Given the description of an element on the screen output the (x, y) to click on. 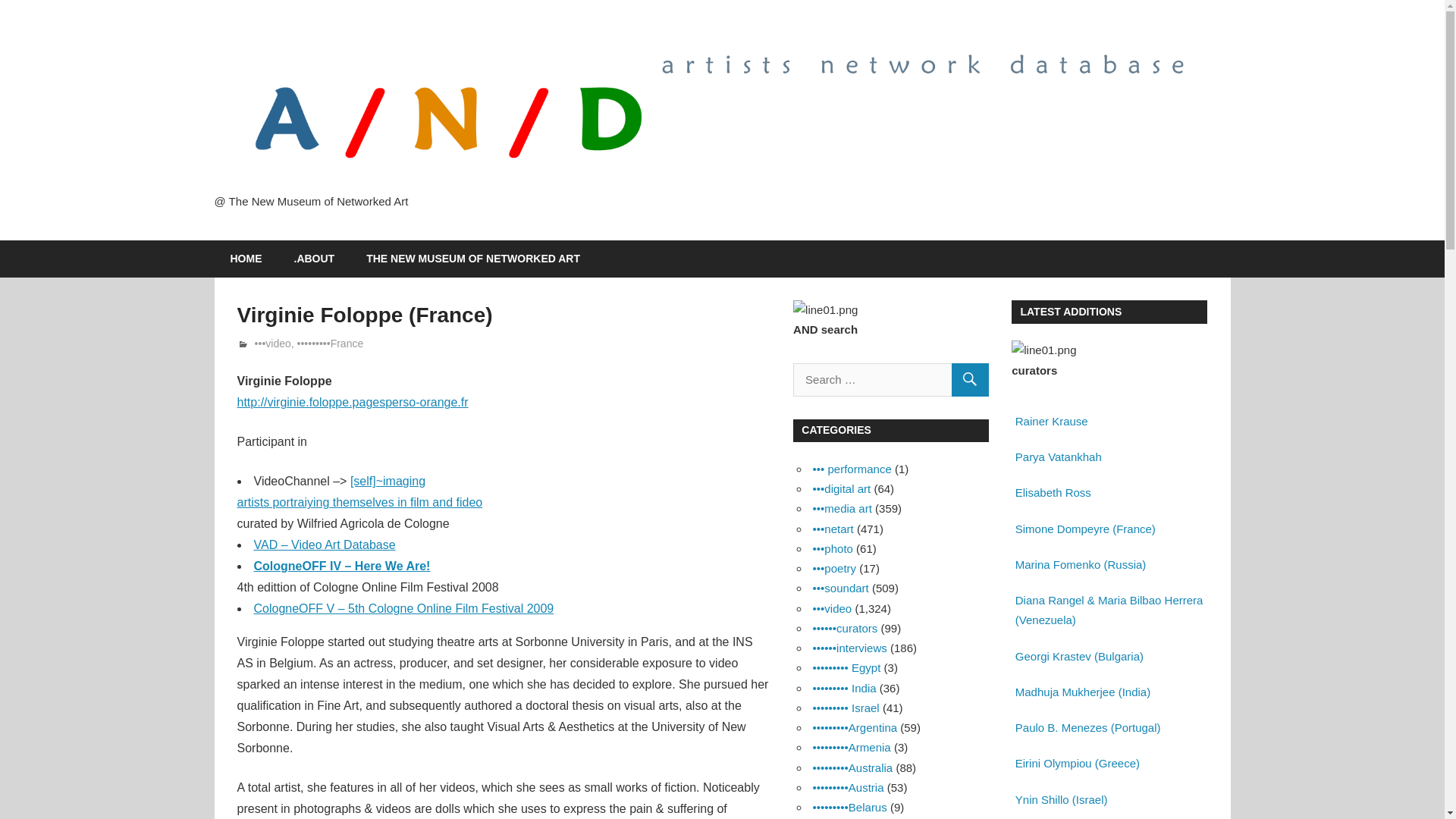
THE NEW MUSEUM OF NETWORKED ART (472, 259)
12:49 pm (299, 343)
infart (266, 343)
Search for: (890, 379)
.ABOUT (314, 259)
September 13, 2008 (299, 343)
View all posts by infart (266, 343)
HOME (246, 259)
